Given the description of an element on the screen output the (x, y) to click on. 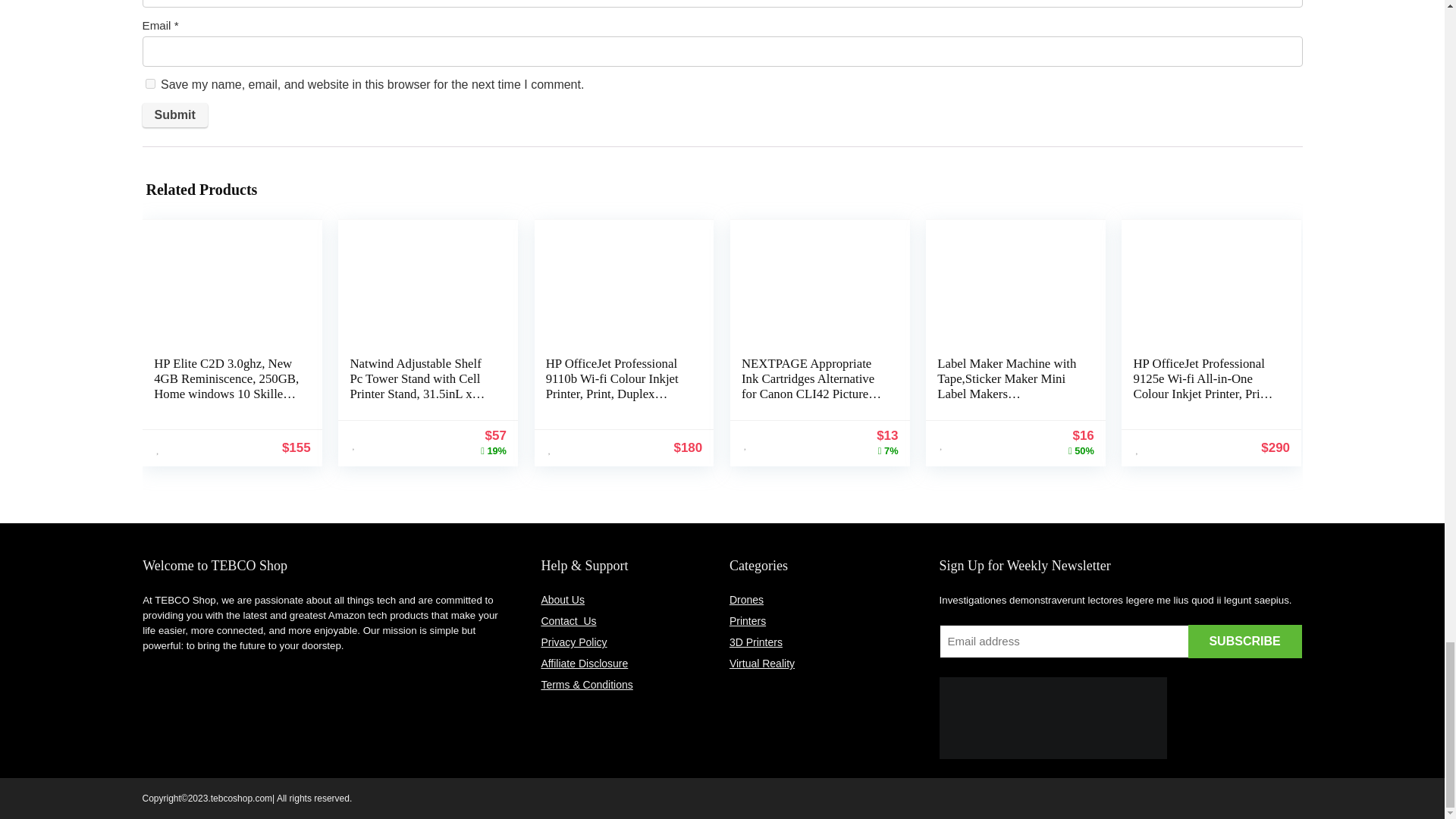
yes (150, 83)
Subscribe (1244, 641)
Submit (175, 115)
Submit (175, 115)
